Given the description of an element on the screen output the (x, y) to click on. 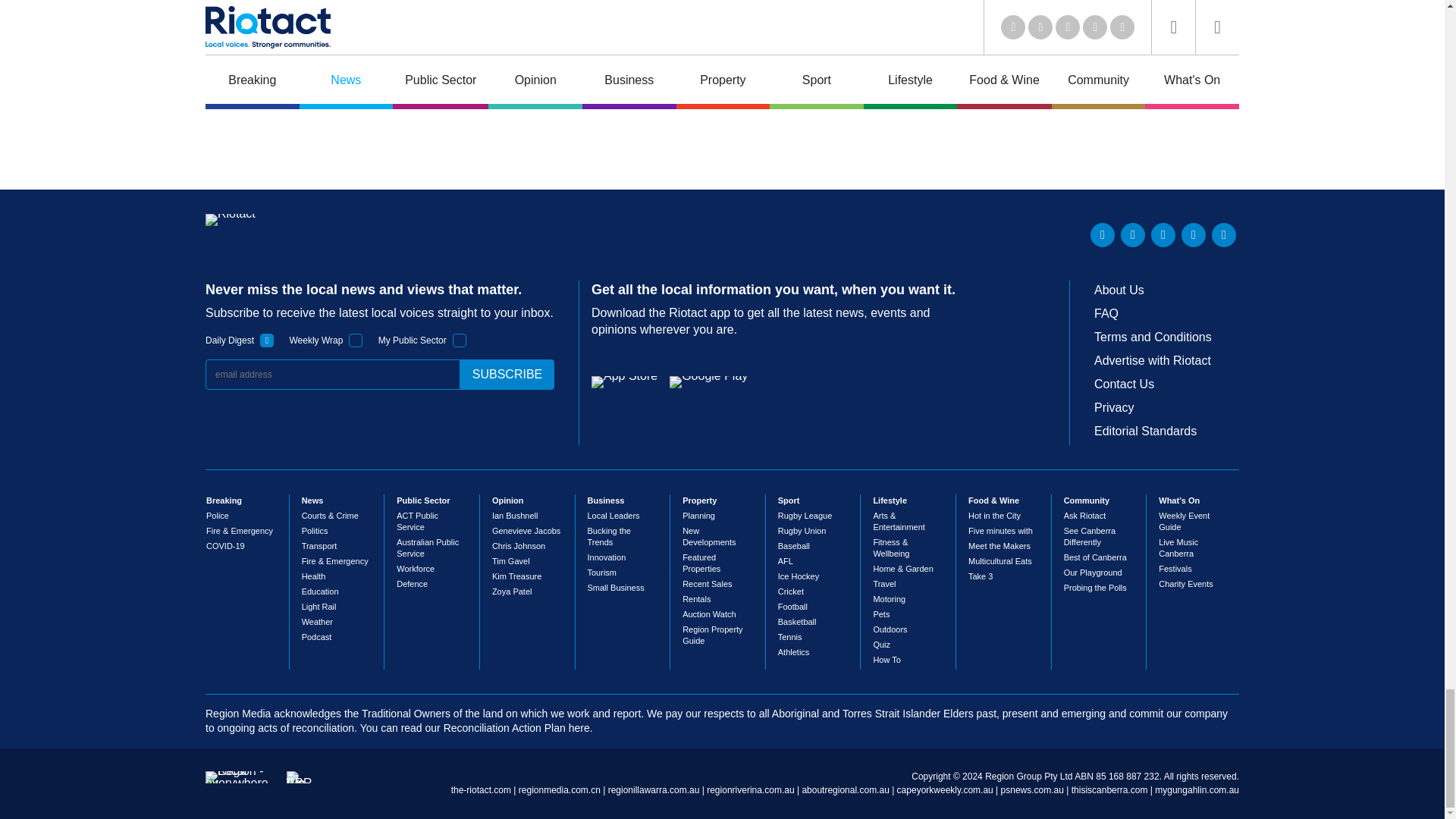
1 (355, 340)
1 (266, 340)
LinkedIn (1102, 234)
subscribe (507, 374)
1 (458, 340)
